Given the description of an element on the screen output the (x, y) to click on. 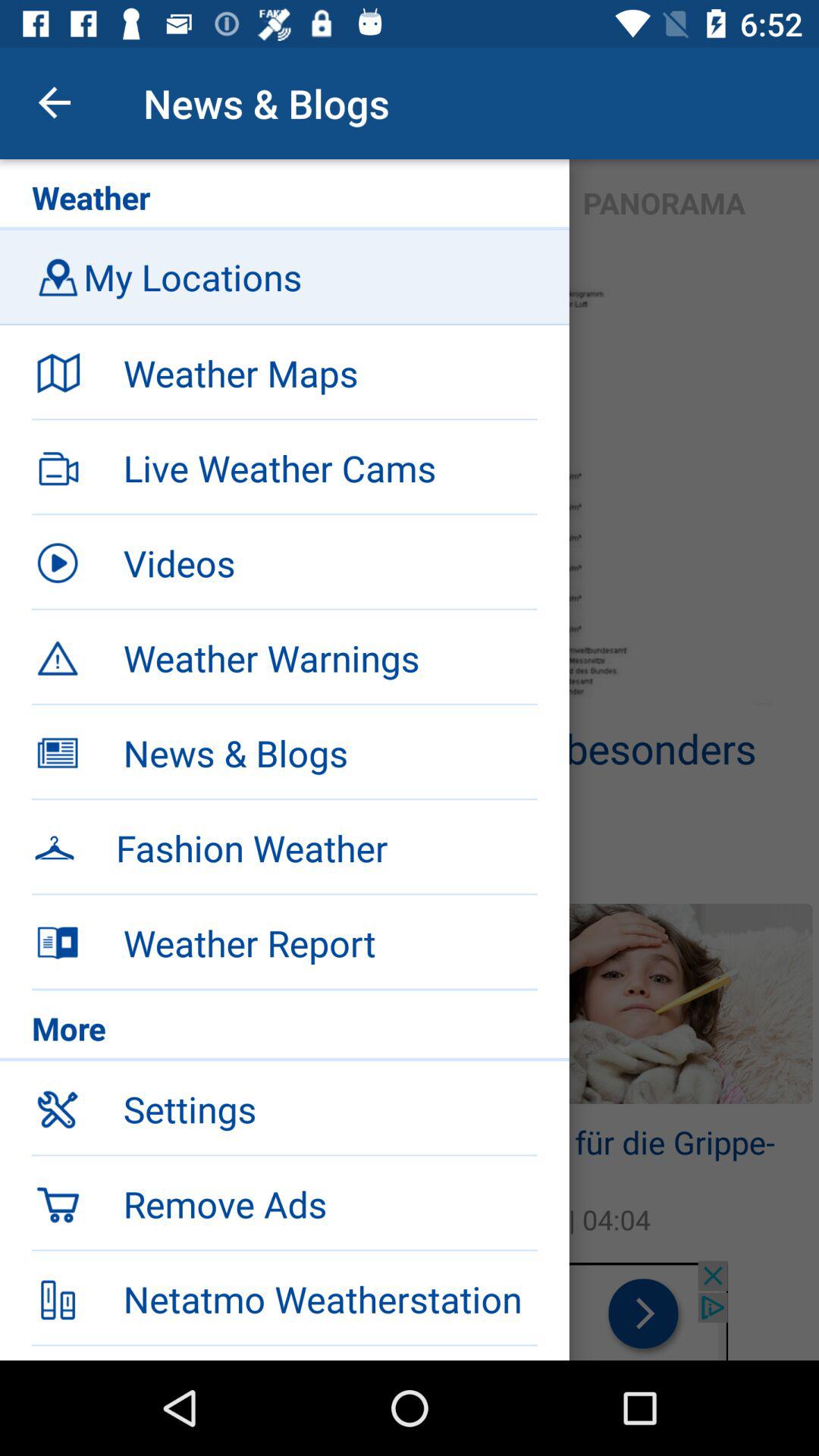
select the symbol left to settings (57, 1108)
